Given the description of an element on the screen output the (x, y) to click on. 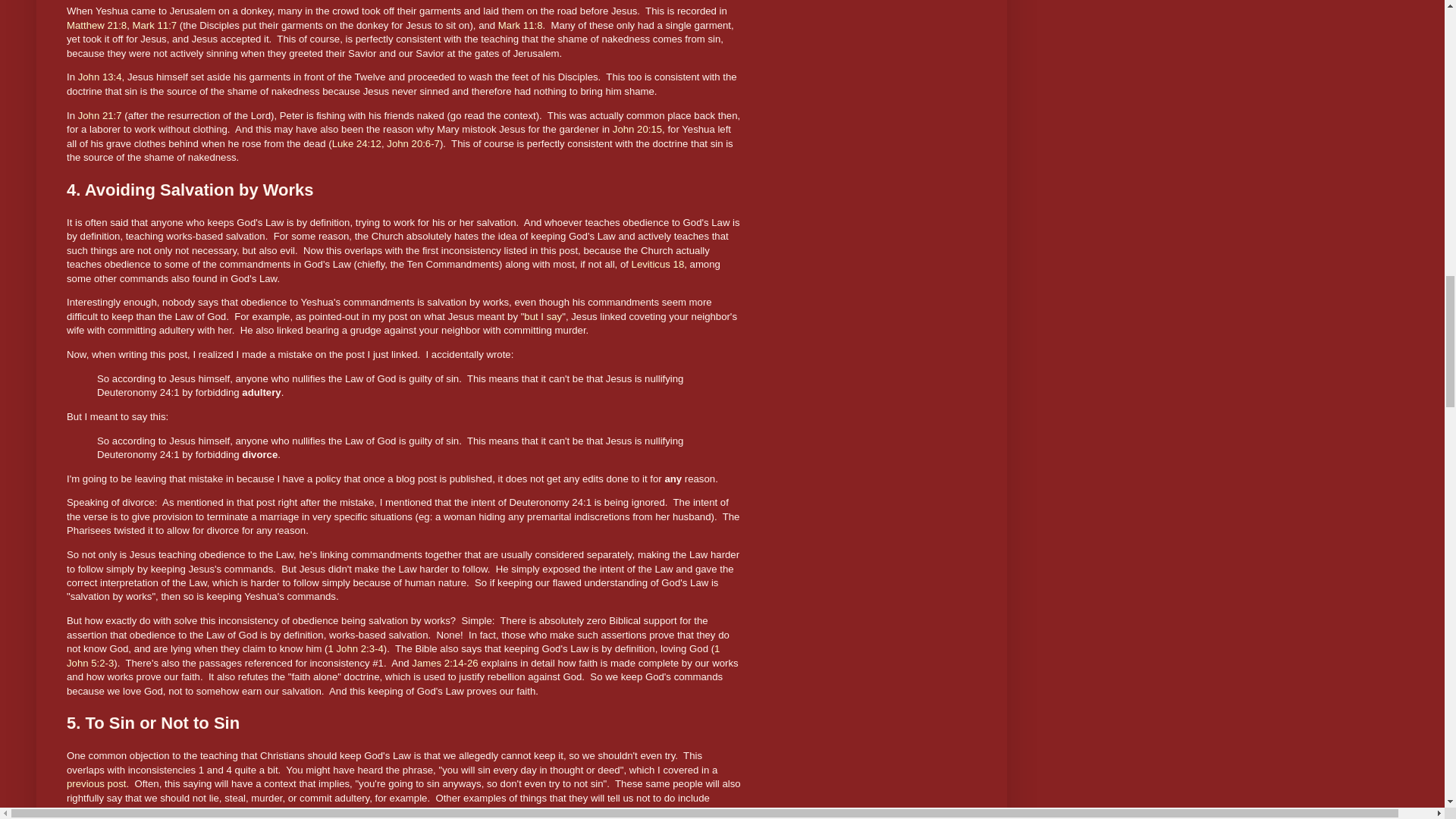
Luke 24:12 (356, 143)
but I say (543, 316)
Mark 11:7 (154, 25)
John 20:6-7 (413, 143)
John 21:7 (100, 115)
Leviticus 18 (657, 264)
1 John 5:2-3 (392, 655)
Mark 11:8 (520, 25)
John 13:4 (100, 76)
1 John 2:3-4 (356, 648)
John 20:15 (637, 129)
Matthew 21:8 (96, 25)
